Given the description of an element on the screen output the (x, y) to click on. 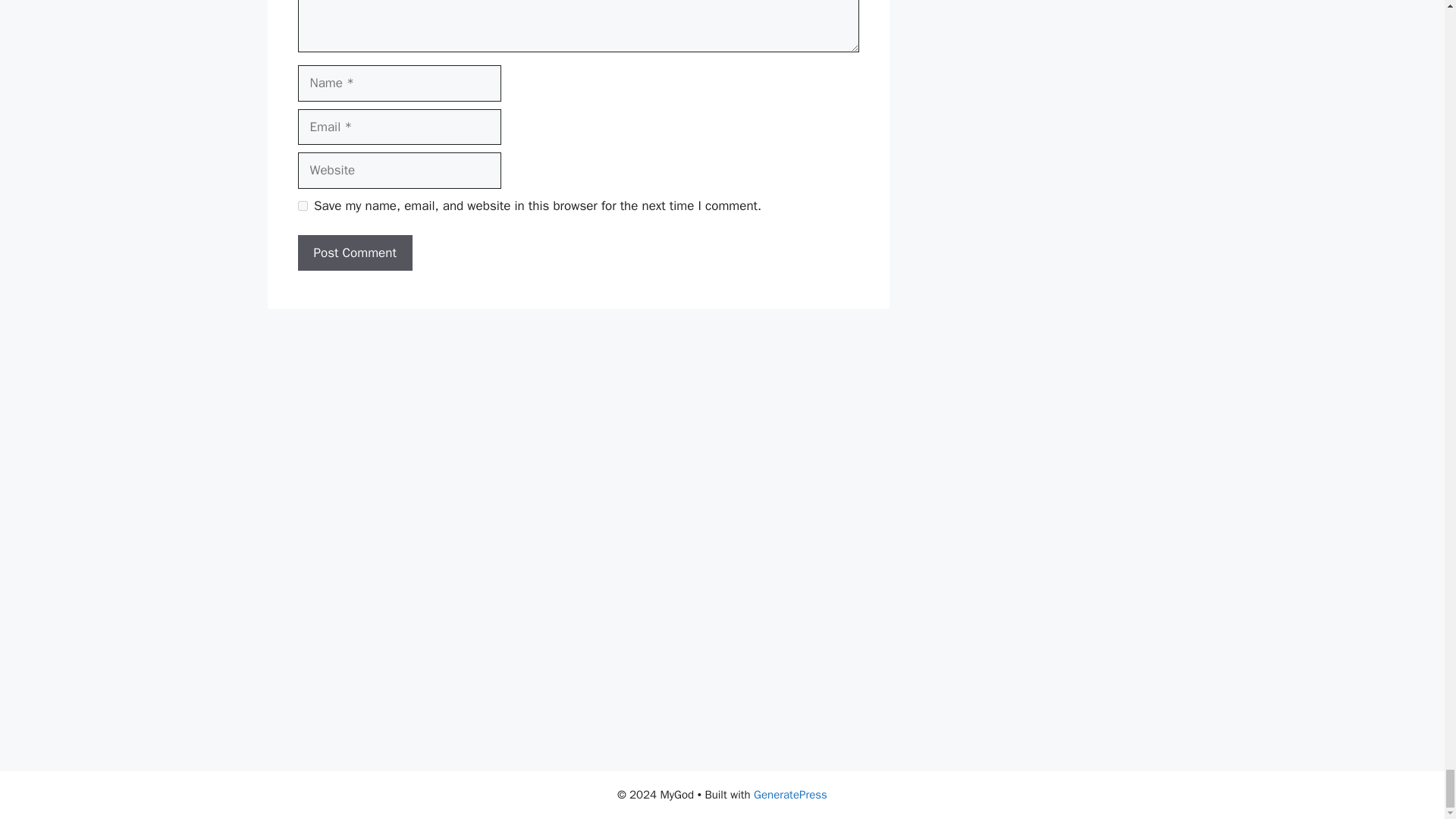
Post Comment (354, 253)
yes (302, 205)
GeneratePress (790, 794)
Post Comment (354, 253)
